Given the description of an element on the screen output the (x, y) to click on. 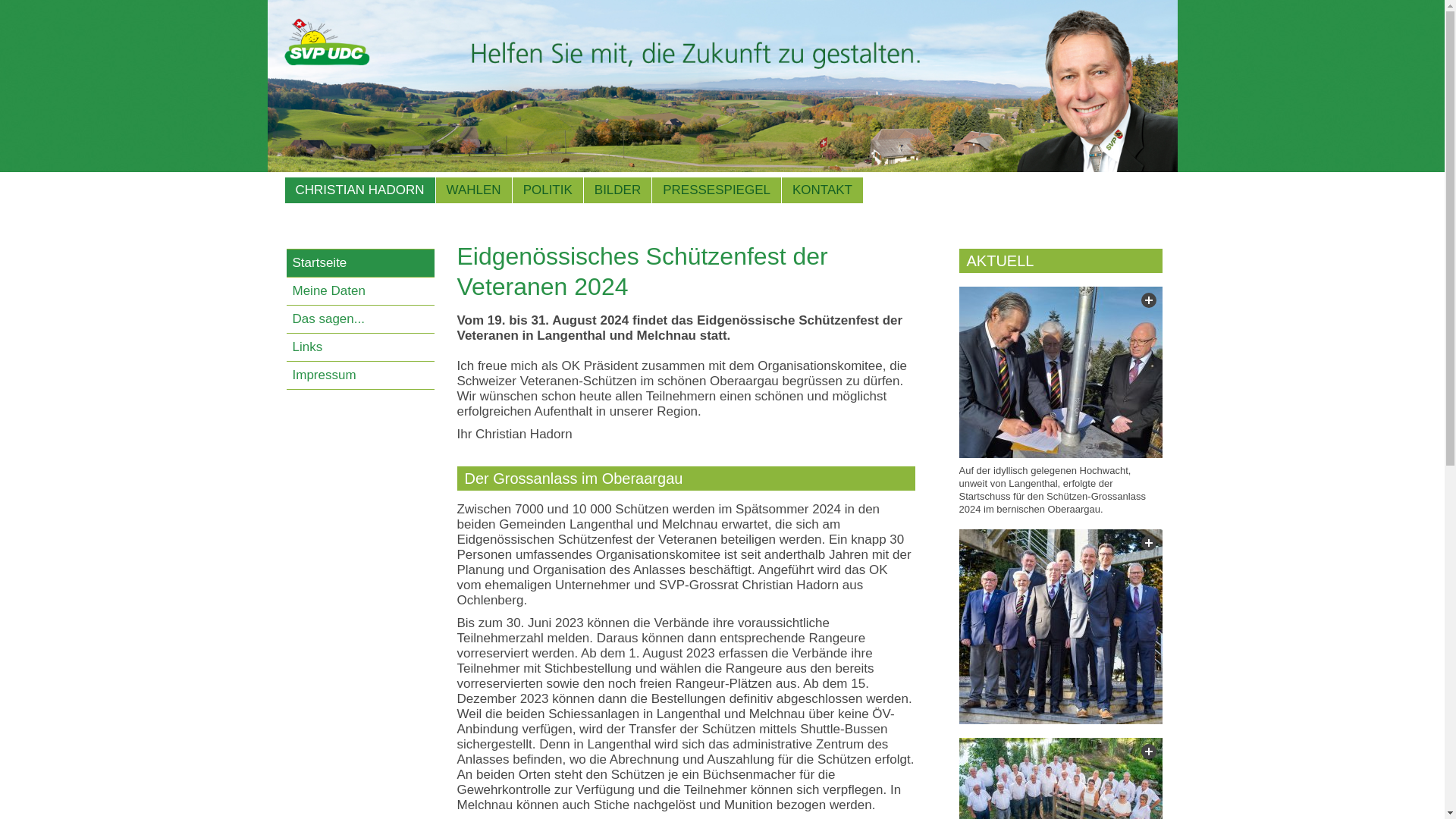
POLITIK Element type: text (547, 190)
Impressum Element type: text (360, 375)
PRESSESPIEGEL Element type: text (716, 190)
Das sagen... Element type: text (360, 319)
WAHLEN Element type: text (473, 190)
  Element type: text (1059, 372)
Startseite Element type: text (360, 263)
Links Element type: text (360, 347)
BILDER Element type: text (617, 190)
Christian Hadorn Grossrat Kanton Bern Element type: hover (721, 86)
KONTAKT Element type: text (821, 190)
Meine Daten Element type: text (360, 291)
CHRISTIAN HADORN Element type: text (360, 190)
  Element type: text (1059, 626)
